Given the description of an element on the screen output the (x, y) to click on. 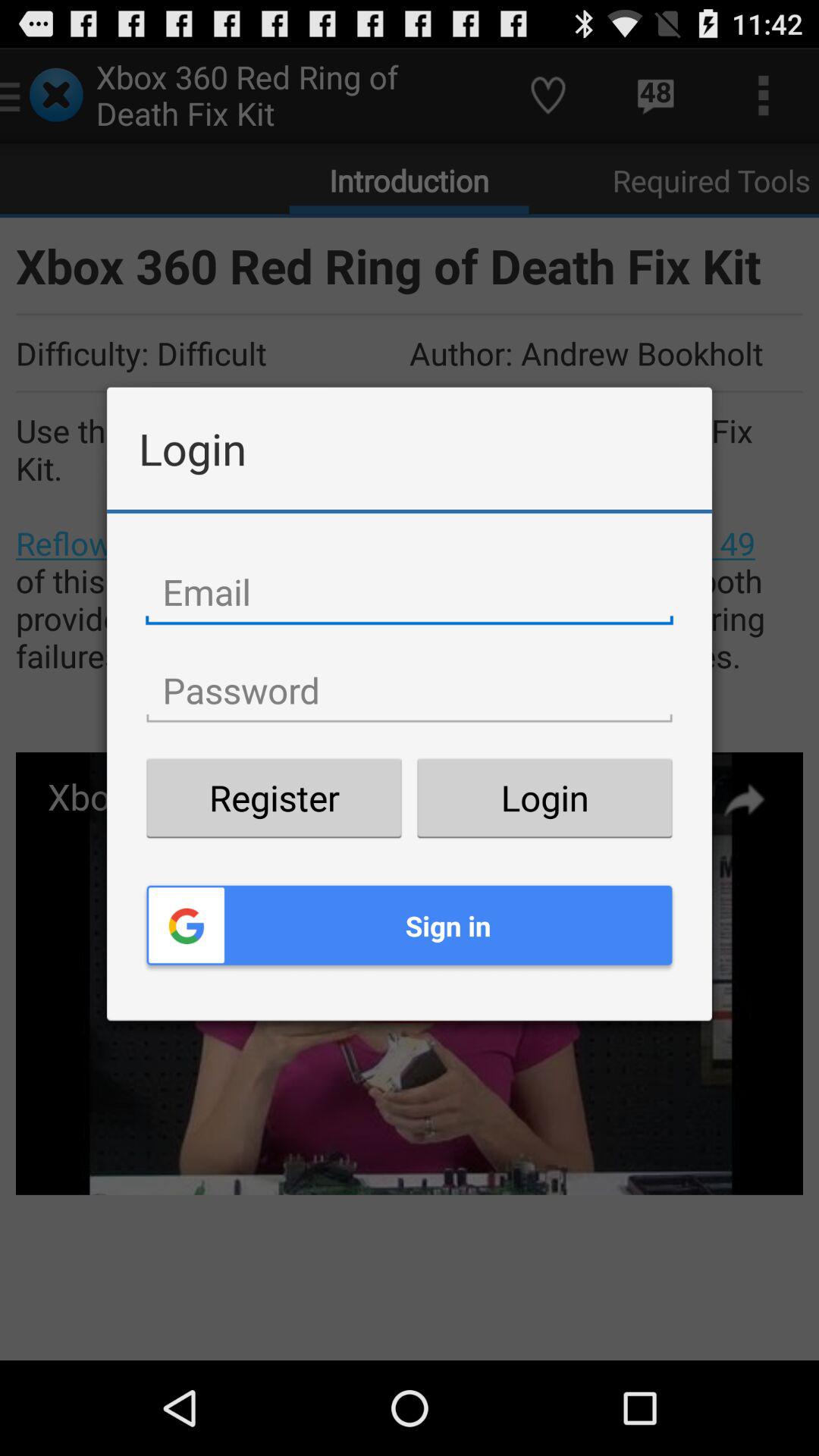
type password code (409, 690)
